Given the description of an element on the screen output the (x, y) to click on. 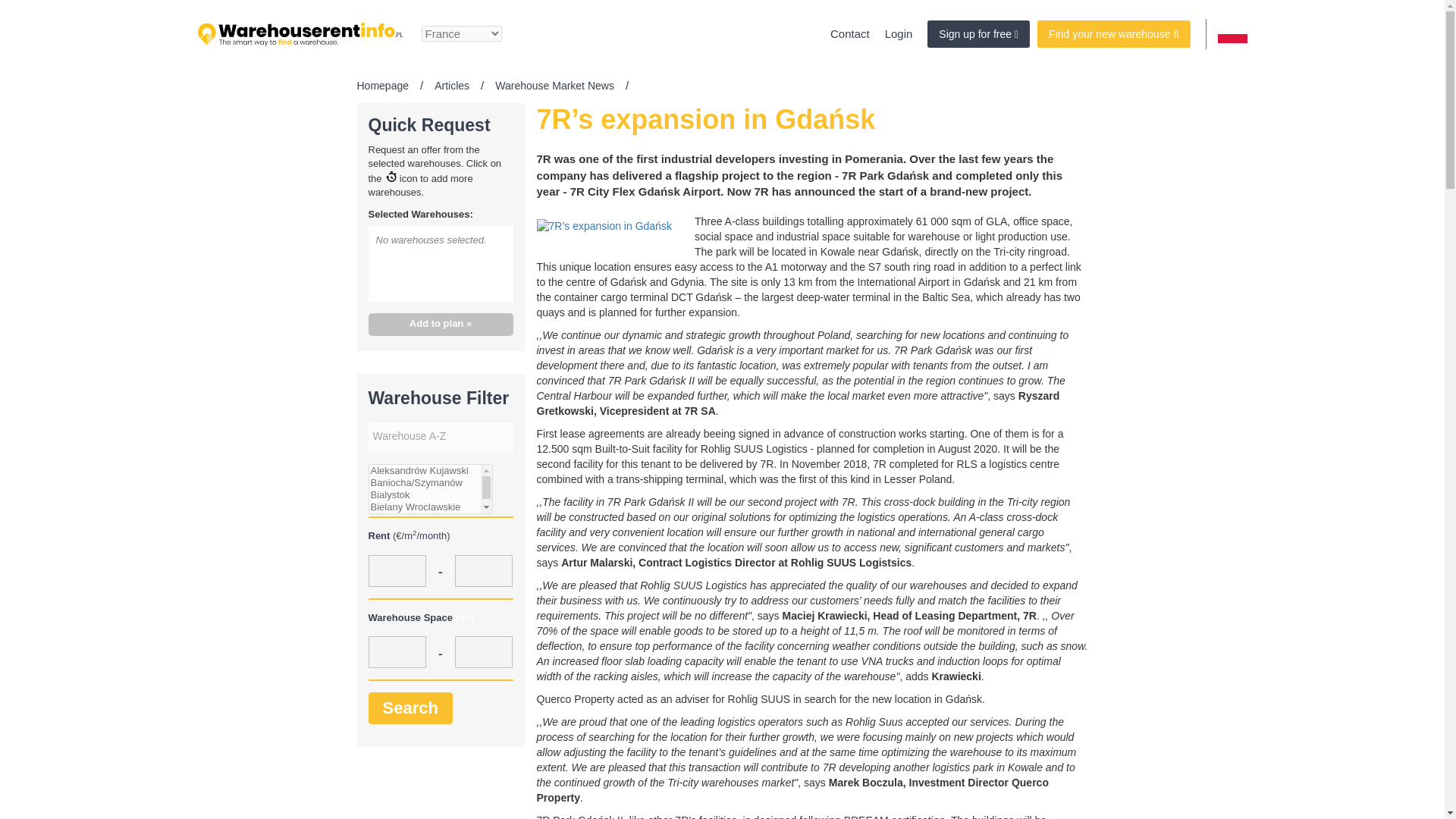
Contact (849, 33)
Property Designer (978, 33)
Add to plan (441, 324)
Login (898, 33)
Homepage (382, 85)
Articles (450, 85)
Sign up for free (978, 33)
Warehouse Market News (554, 85)
Find your new warehouse (1113, 33)
Search (410, 707)
